Given the description of an element on the screen output the (x, y) to click on. 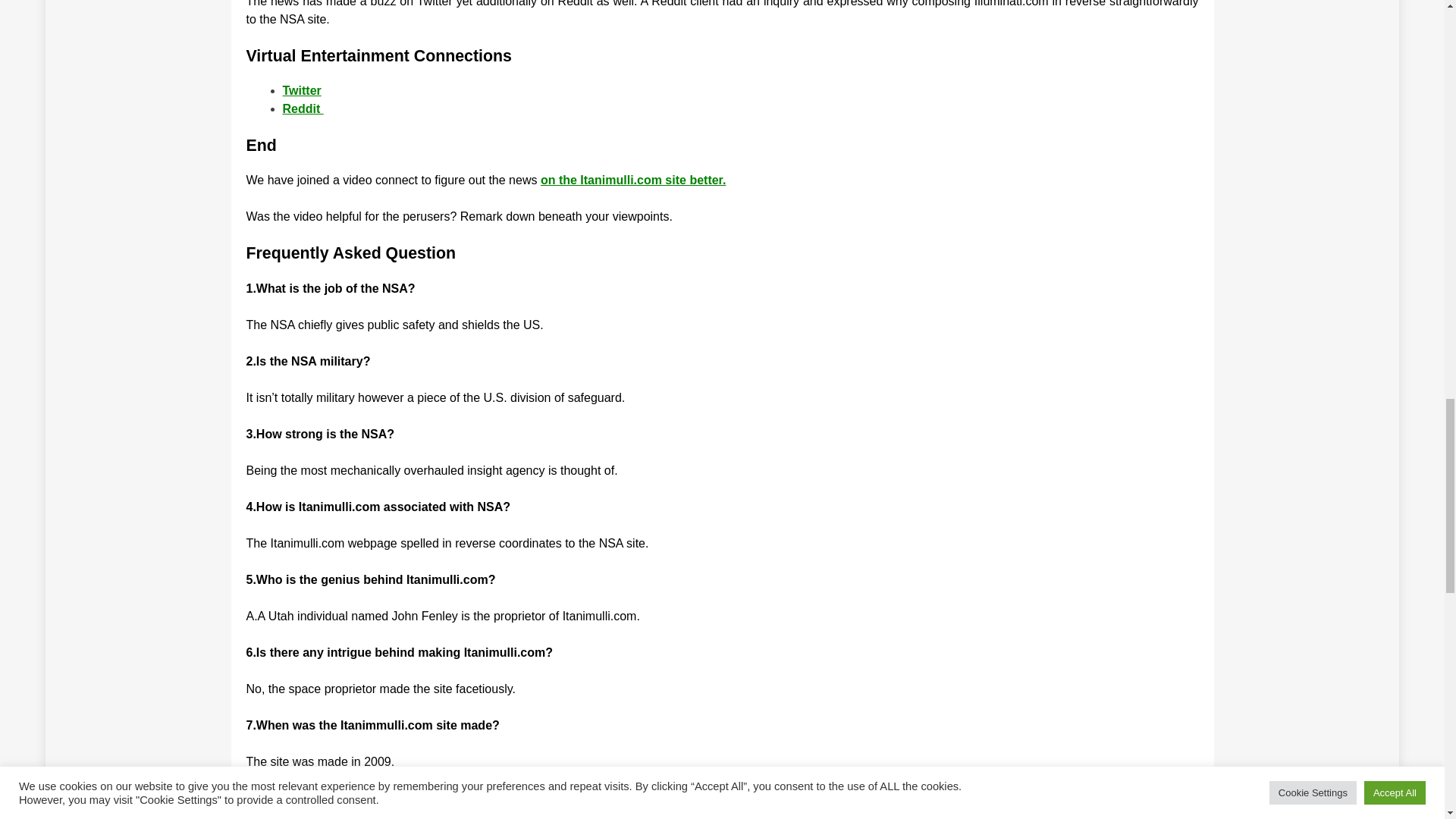
Twitter (301, 90)
Reddit  (302, 108)
on the Itanimulli.com site better. (632, 179)
